Given the description of an element on the screen output the (x, y) to click on. 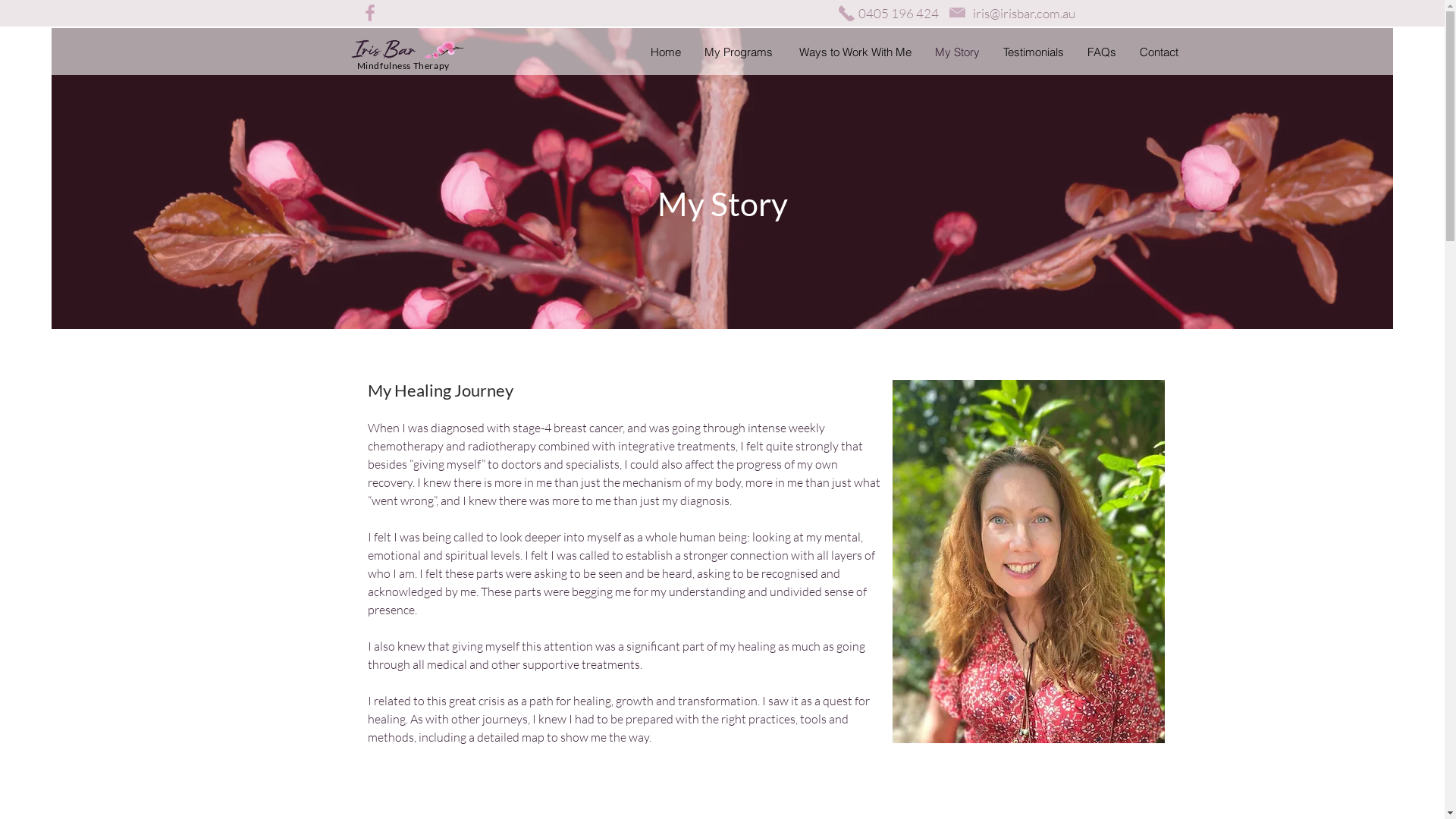
Testimonials Element type: text (1032, 51)
FAQs Element type: text (1101, 51)
Ways to Work With Me Element type: text (854, 51)
0405 196 424 Element type: text (898, 13)
Home Element type: text (665, 51)
Mindfulness Therapy Element type: text (402, 65)
Contact Element type: text (1157, 51)
iris@irisbar.com.au    Element type: text (1026, 13)
My Story Element type: text (956, 51)
